Given the description of an element on the screen output the (x, y) to click on. 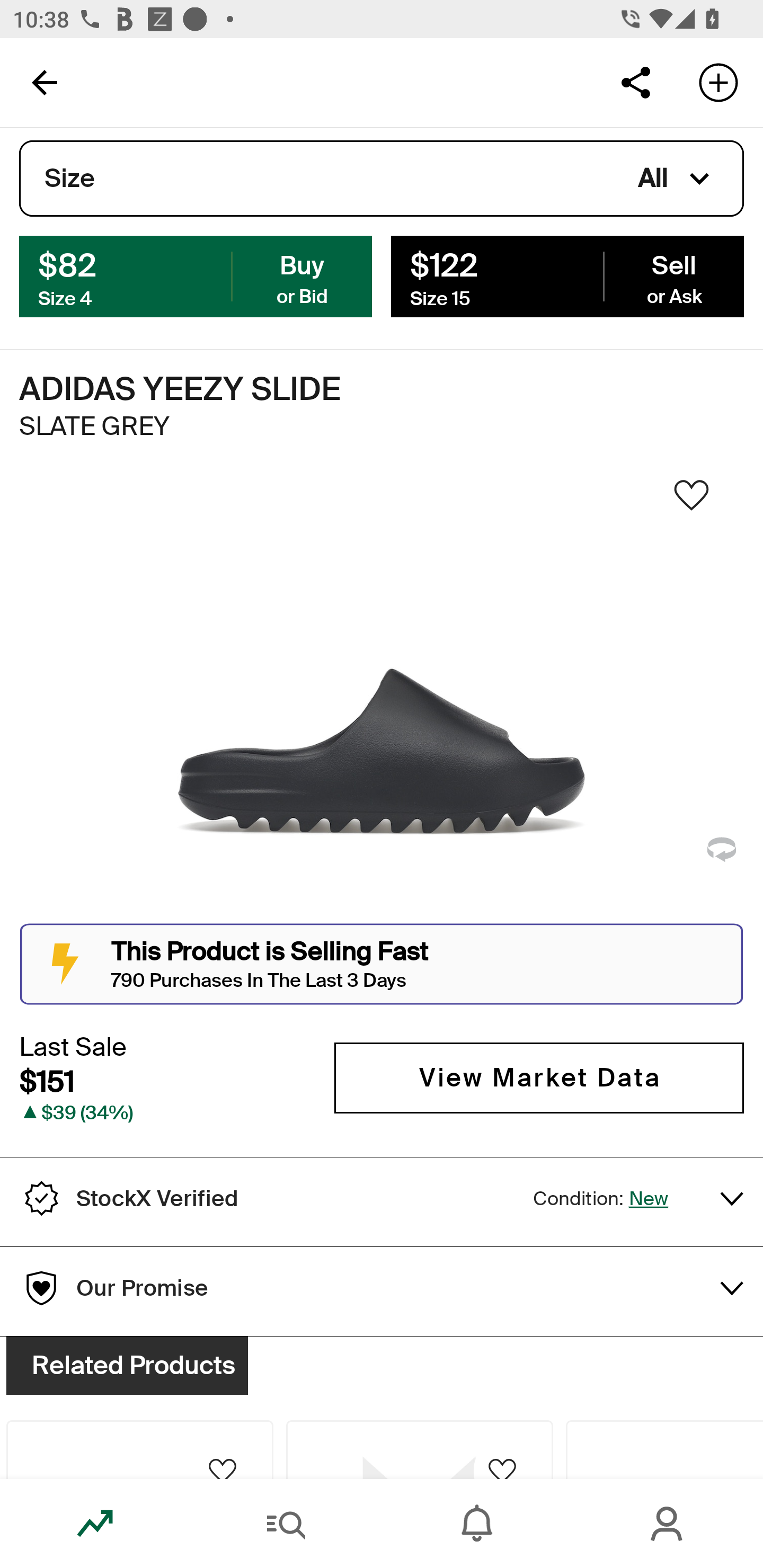
Share (635, 81)
Add (718, 81)
Size All (381, 178)
$82 Buy Size 4 or Bid (195, 275)
$122 Sell Size 15 or Ask (566, 275)
Sneaker Image (381, 699)
View Market Data (538, 1077)
Search (285, 1523)
Inbox (476, 1523)
Account (667, 1523)
